Given the description of an element on the screen output the (x, y) to click on. 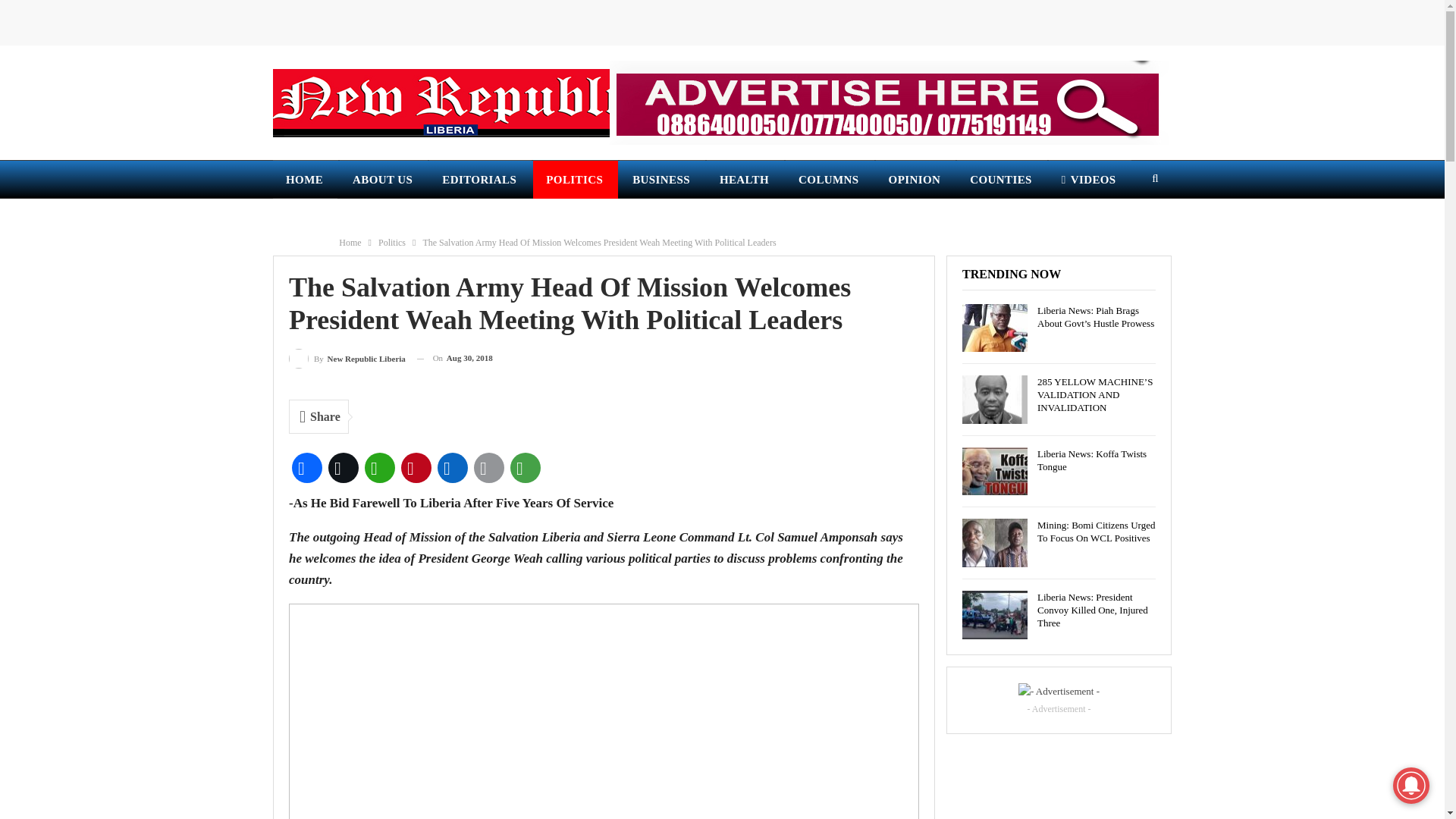
By New Republic Liberia (347, 358)
POLITICS (574, 179)
BUSINESS (662, 179)
Facebook (306, 467)
Politics (392, 242)
LinkedIn (451, 467)
VIDEOS (1089, 179)
HEALTH (745, 179)
Home (350, 242)
ABOUT US (383, 179)
COLUMNS (829, 179)
HOME (305, 179)
Pinterest (415, 467)
WhatsApp (379, 467)
COUNTIES (1001, 179)
